Given the description of an element on the screen output the (x, y) to click on. 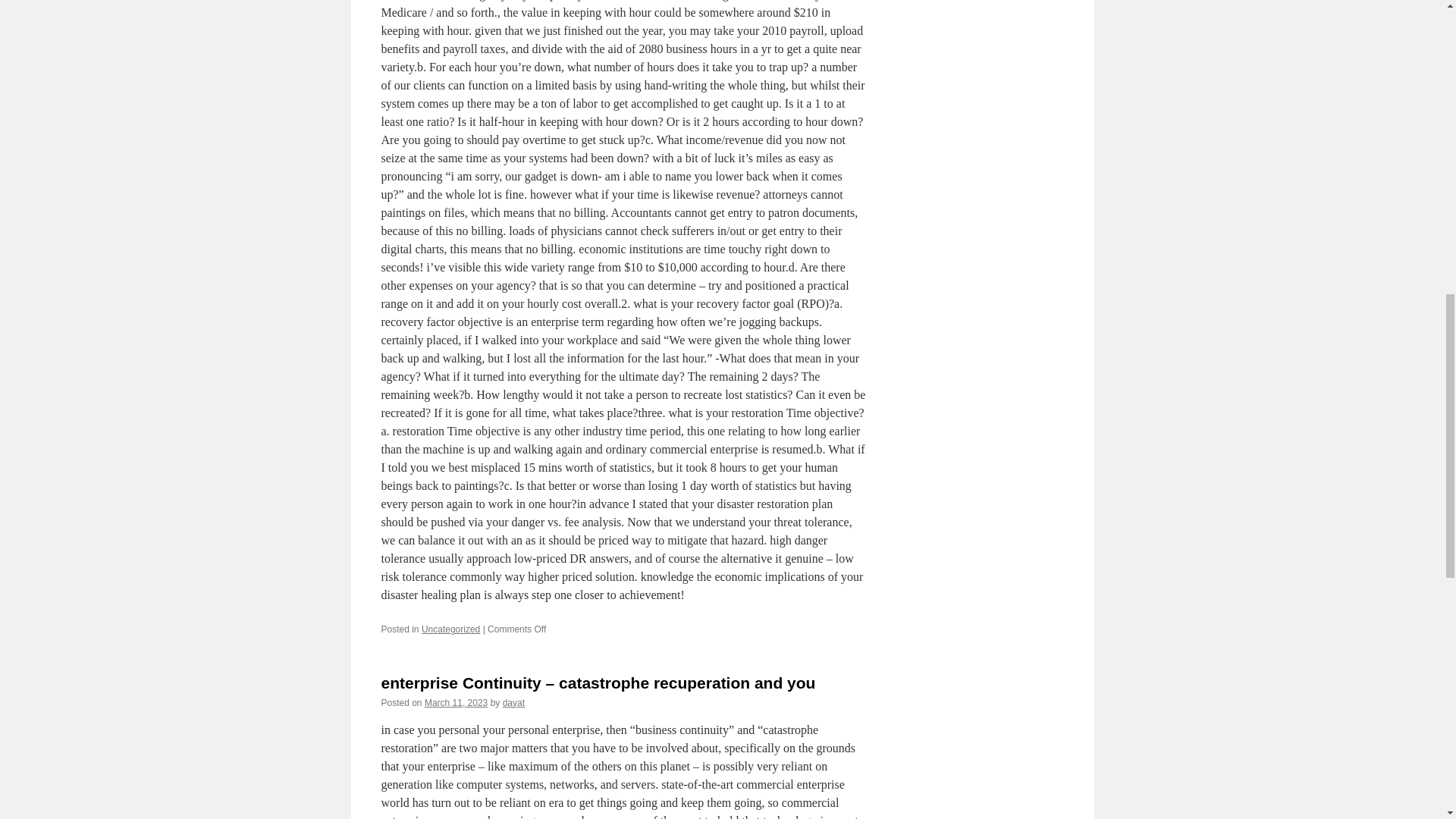
View all posts in Uncategorized (451, 629)
dayat (513, 702)
March 11, 2023 (456, 702)
View all posts by dayat (513, 702)
Uncategorized (451, 629)
9:05 am (456, 702)
